Given the description of an element on the screen output the (x, y) to click on. 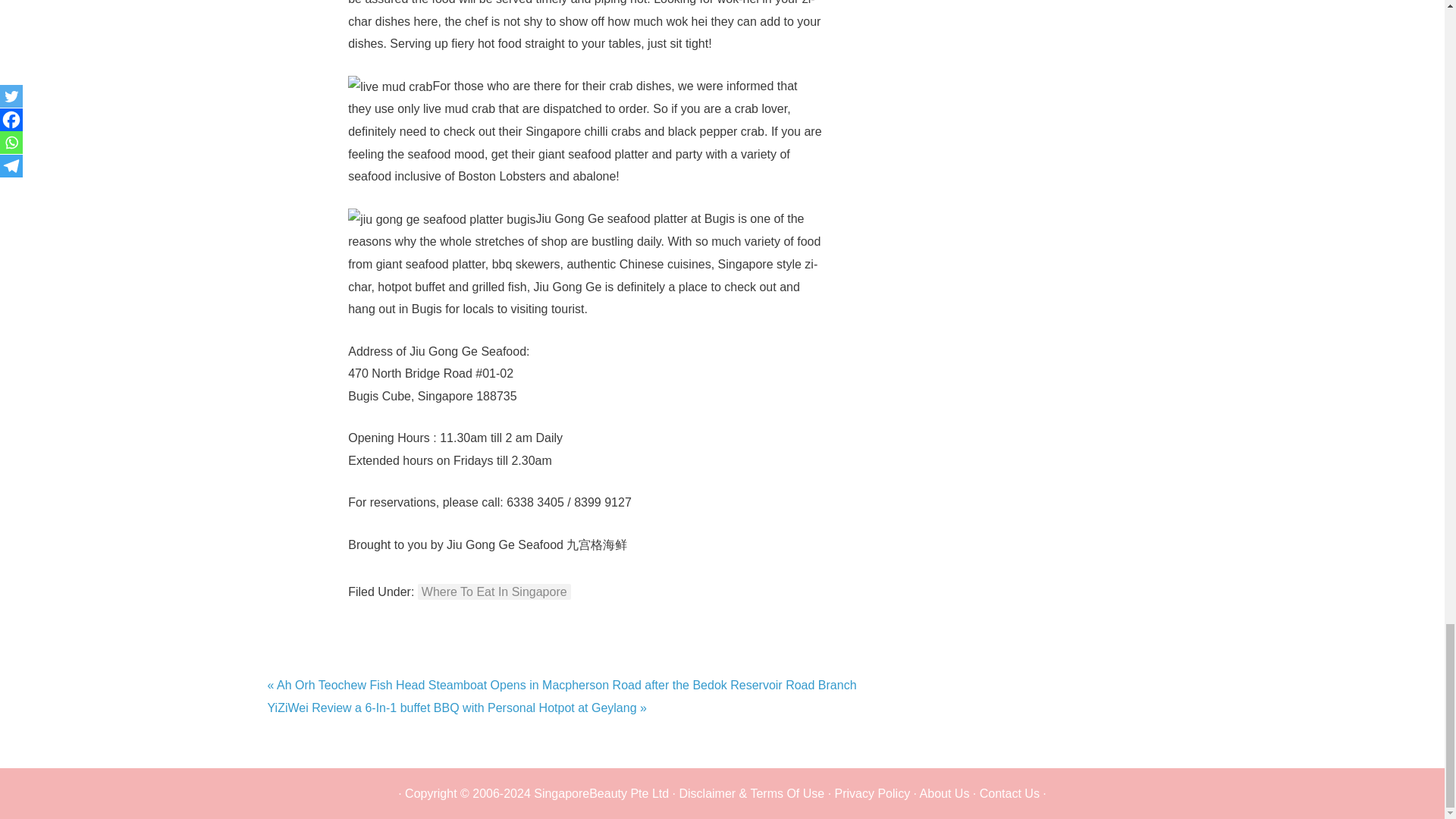
Contact Us (1009, 793)
Privacy Policy (872, 793)
Where To Eat In Singapore (493, 591)
About Us (944, 793)
